Given the description of an element on the screen output the (x, y) to click on. 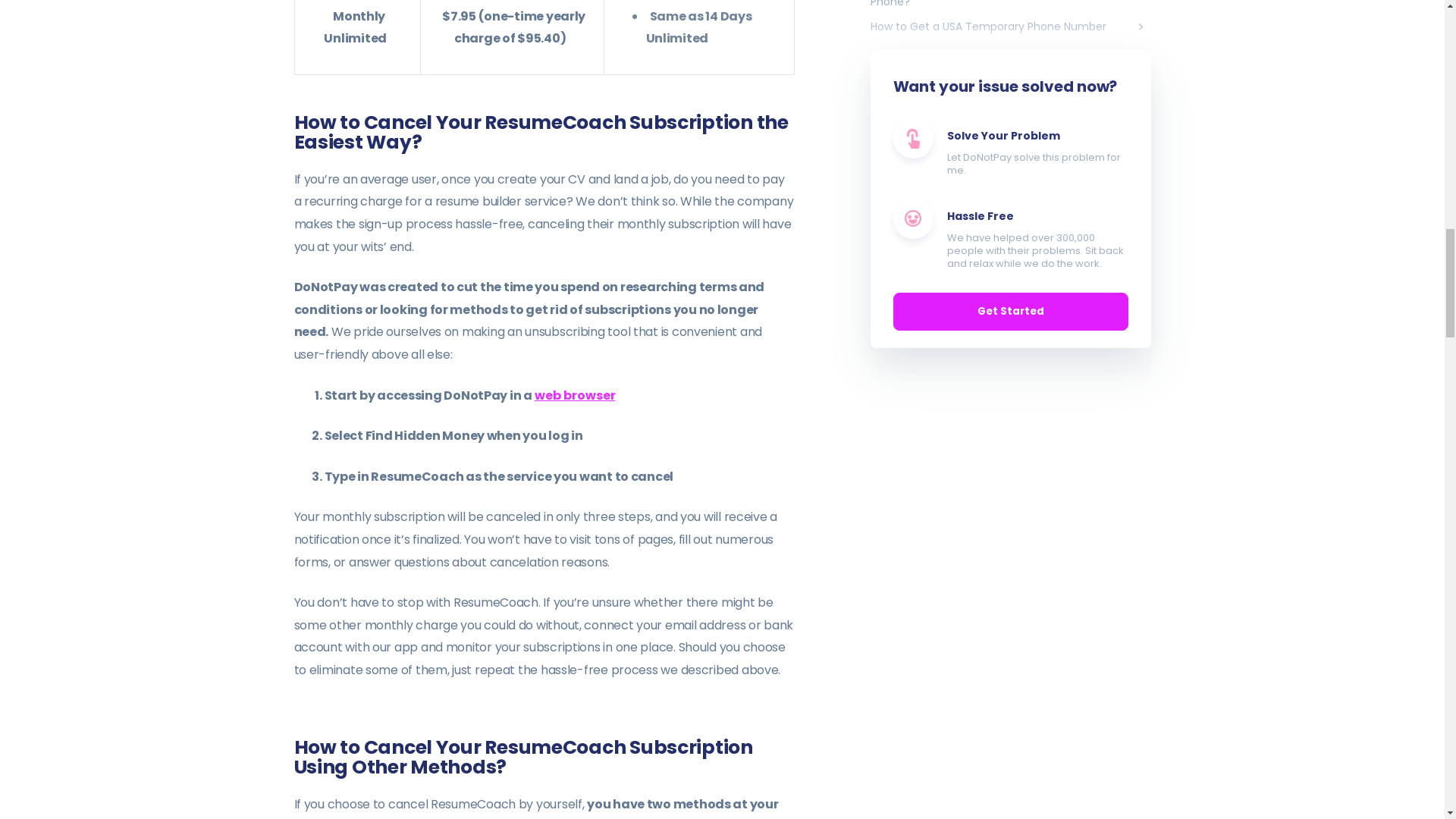
web browser (574, 394)
